Given the description of an element on the screen output the (x, y) to click on. 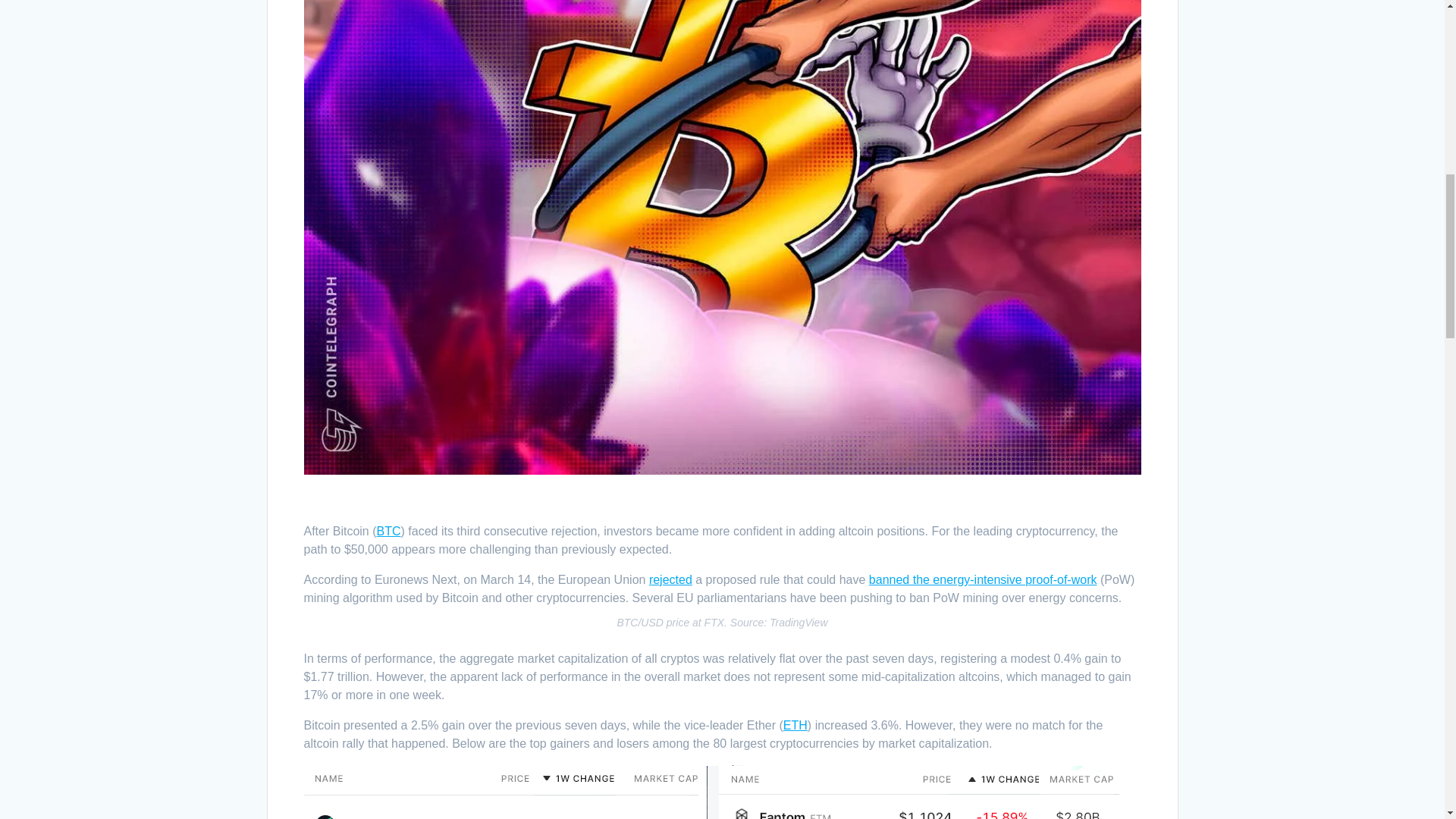
banned the energy-intensive proof-of-work (983, 579)
rejected (671, 579)
ETH (795, 725)
BTC (389, 530)
